Given the description of an element on the screen output the (x, y) to click on. 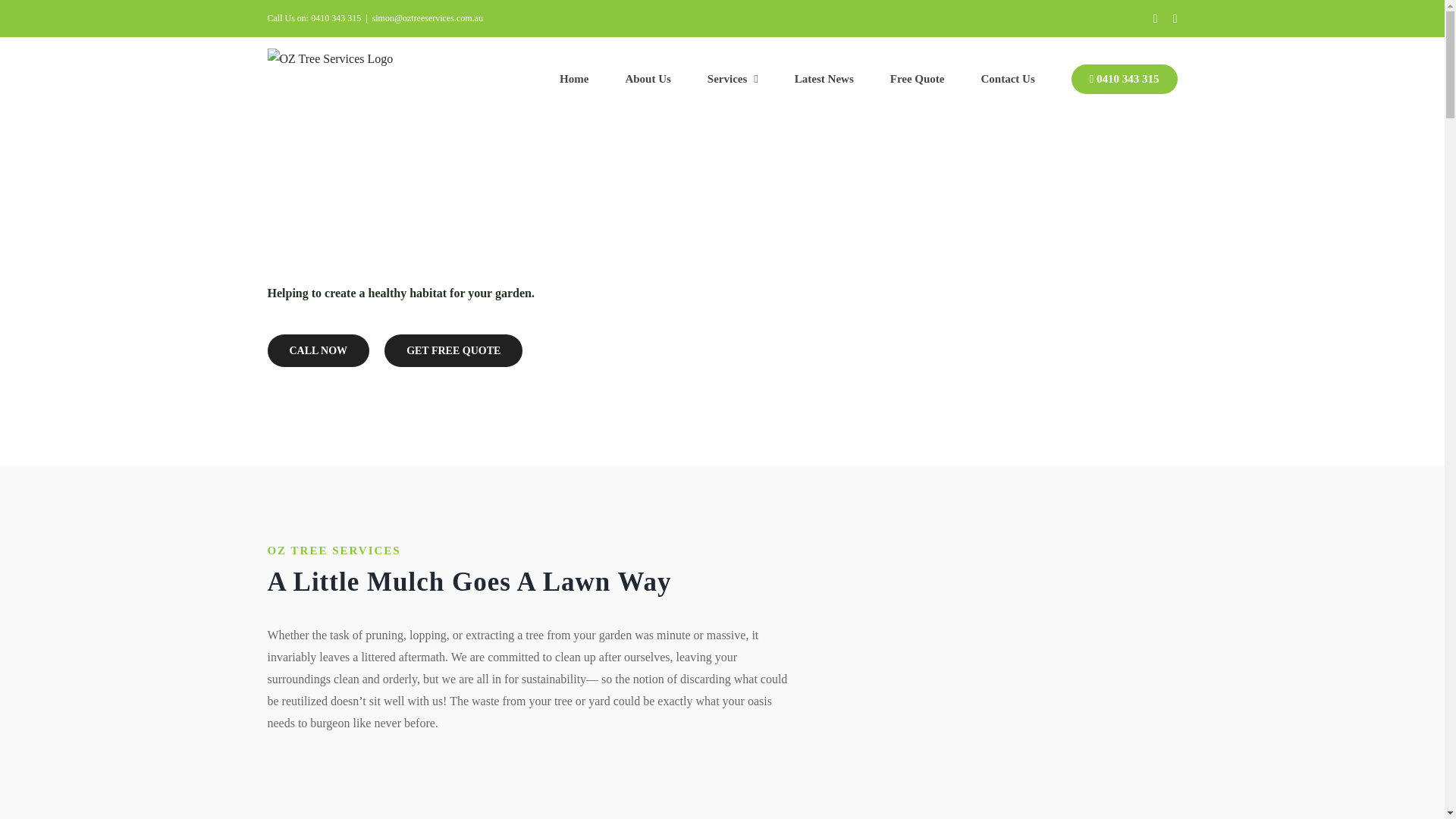
Tree Mulching Watsonia (1005, 663)
GET FREE QUOTE (453, 350)
CALL NOW (317, 350)
0410 343 315 (1124, 78)
0410 343 315 (336, 18)
